Given the description of an element on the screen output the (x, y) to click on. 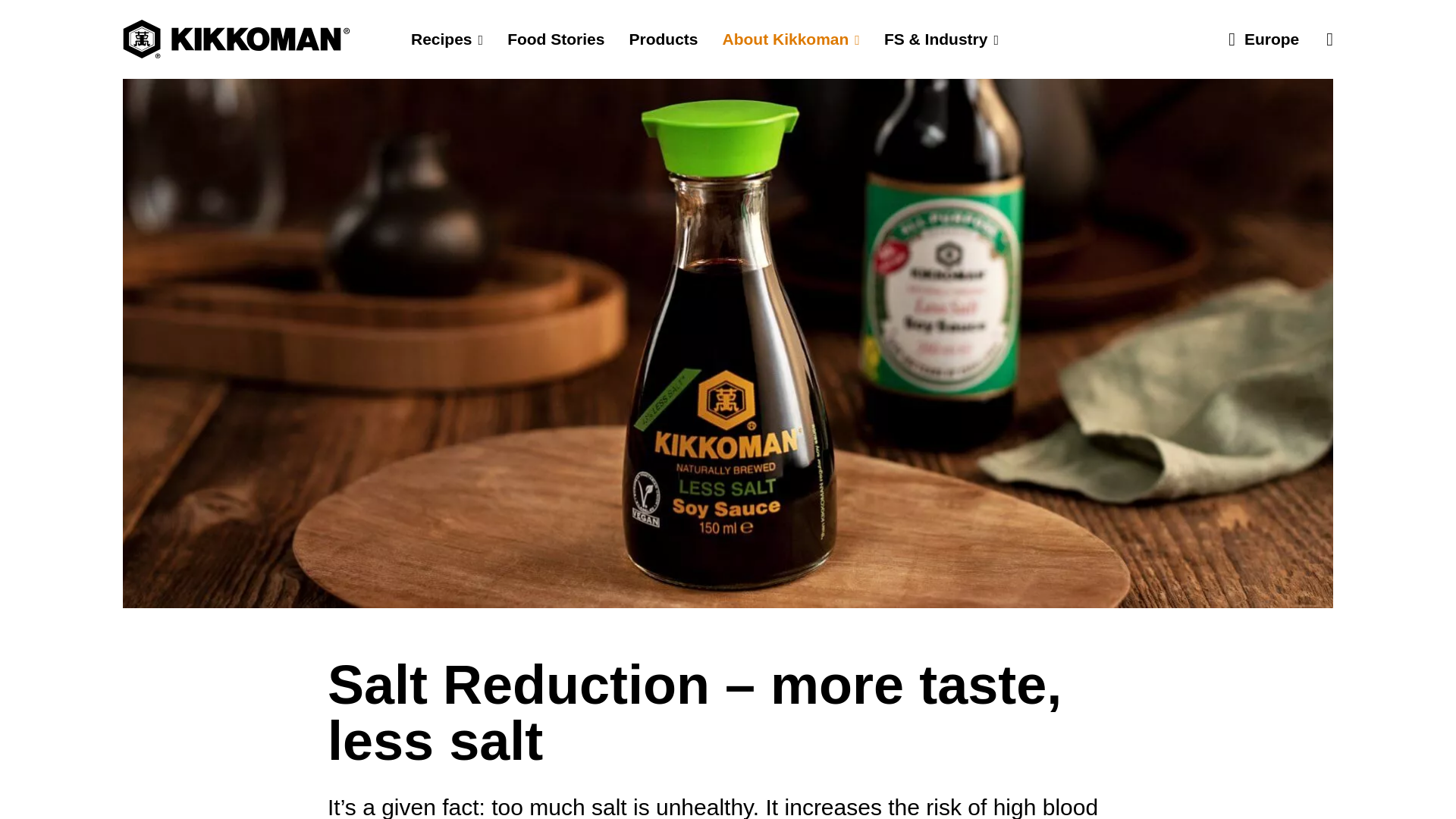
Food Stories (555, 39)
Products (662, 39)
Recipes (446, 39)
About Kikkoman (790, 39)
Recipes (446, 39)
